Given the description of an element on the screen output the (x, y) to click on. 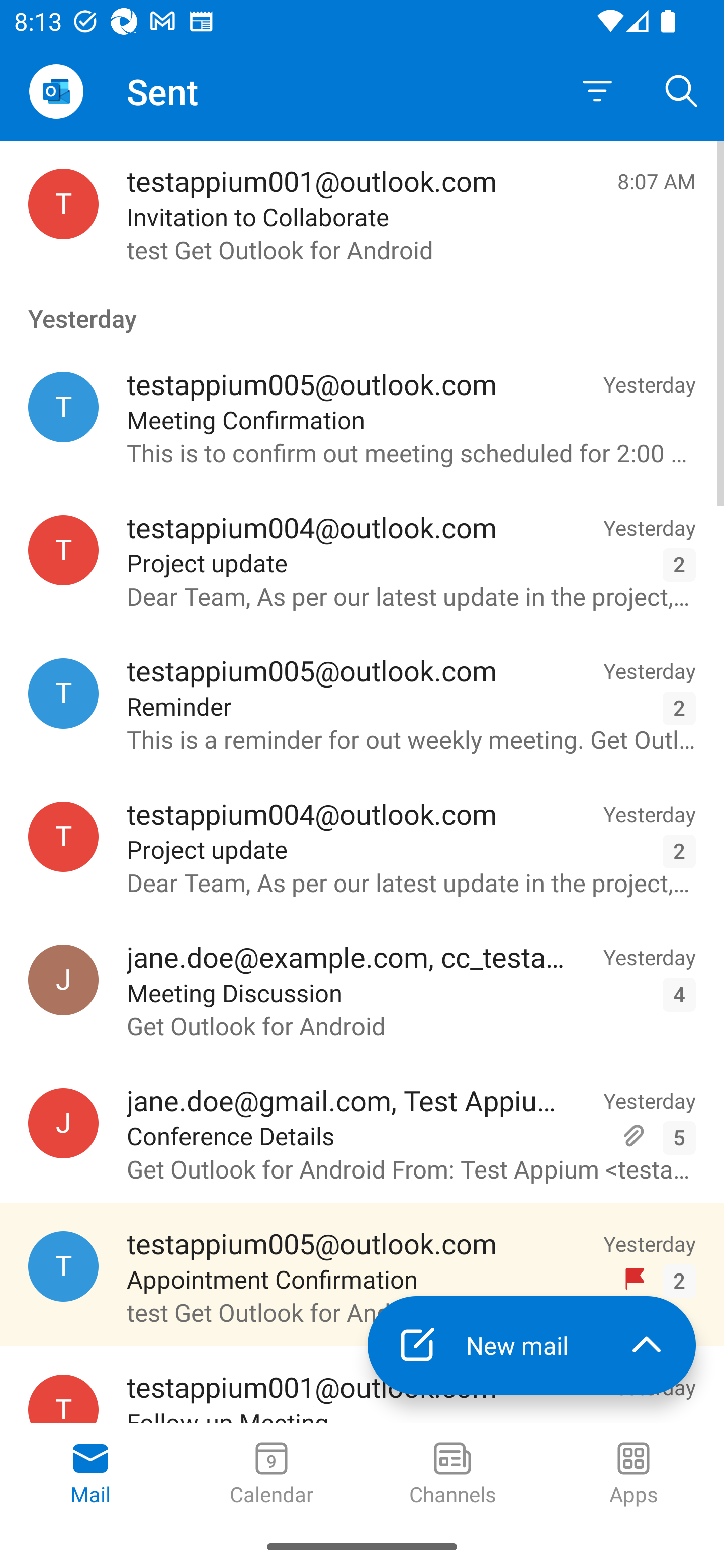
Search, ,  (681, 90)
Open Navigation Drawer (55, 91)
Filter (597, 91)
jane.doe@example.com, jane.doe@example.com (63, 979)
jane.doe@gmail.com, jane.doe@gmail.com (63, 1123)
New mail (481, 1344)
launch the extended action menu (646, 1344)
Calendar (271, 1474)
Channels (452, 1474)
Apps (633, 1474)
